Given the description of an element on the screen output the (x, y) to click on. 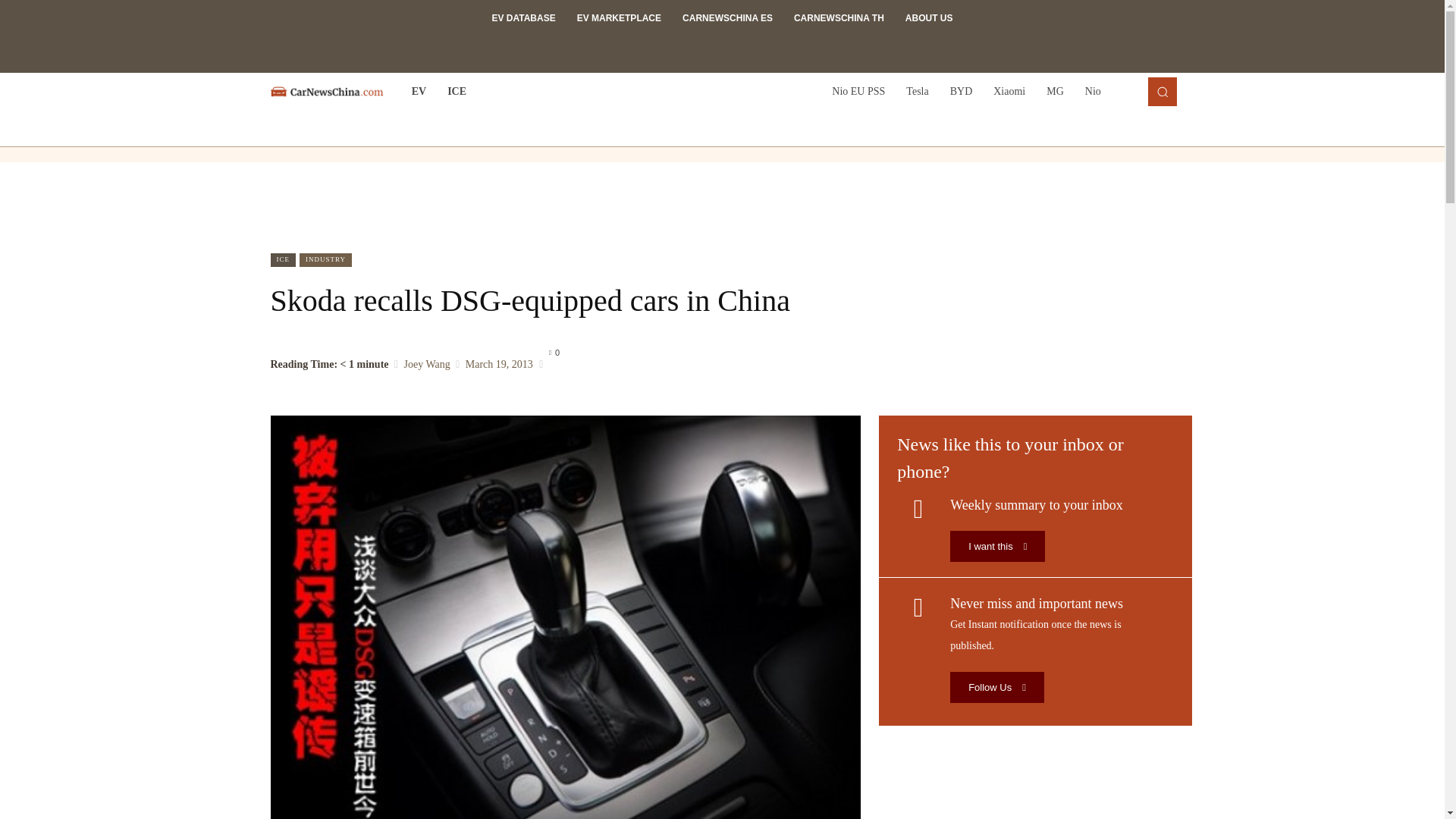
Tesla (917, 91)
Xiaomi (1008, 91)
CARNEWSCHINA TH (839, 18)
CARNEWSCHINA ES (727, 18)
EV (418, 91)
Nio EU PSS (858, 91)
MG (1054, 91)
ABOUT US (929, 18)
Advertisement (722, 207)
ICE (456, 91)
EV DATABASE (523, 18)
BYD (961, 91)
EV MARKETPLACE (618, 18)
Nio (1093, 91)
